Given the description of an element on the screen output the (x, y) to click on. 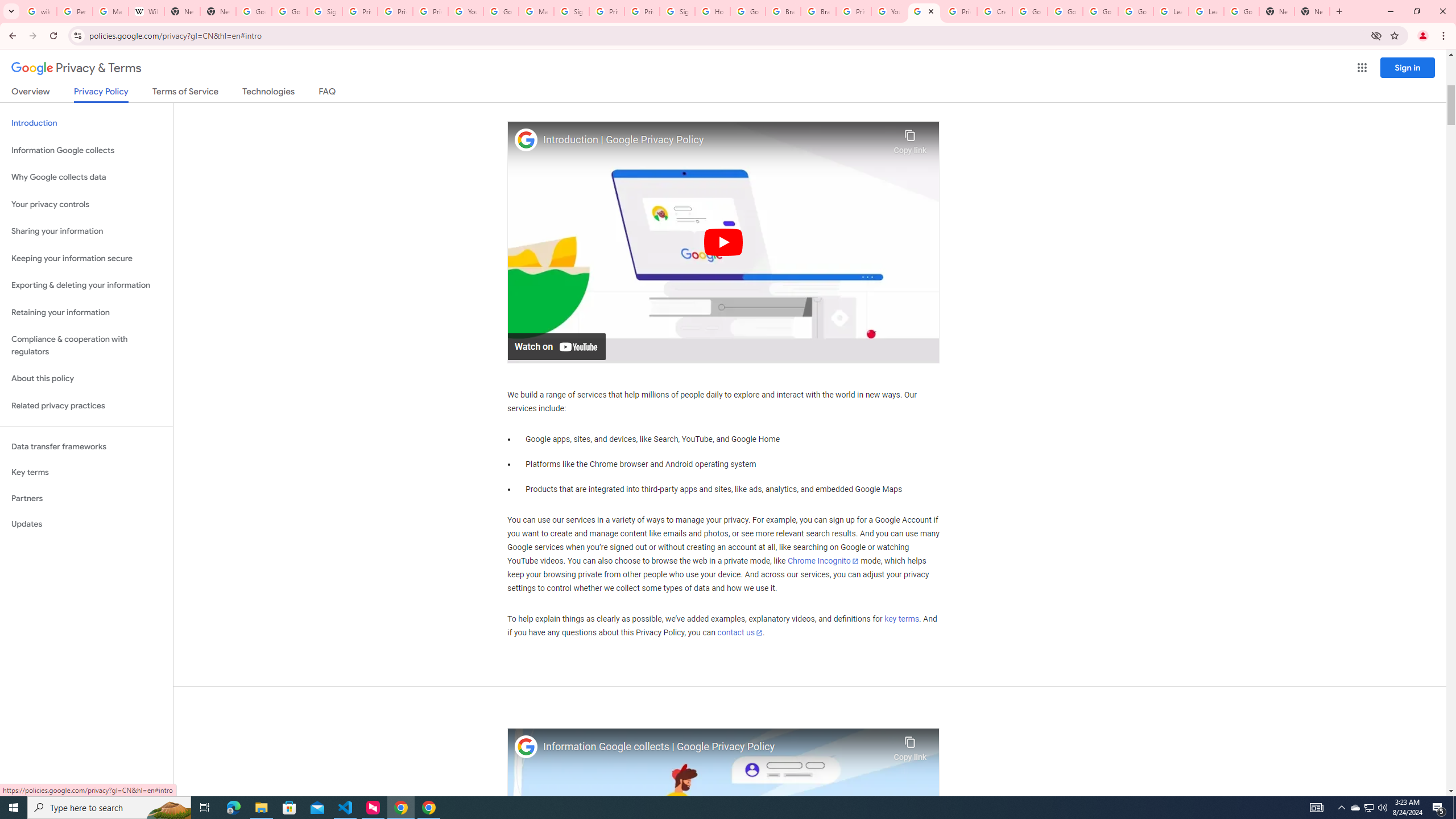
contact us (739, 633)
Related privacy practices (86, 405)
New Tab (1276, 11)
Introduction (86, 122)
YouTube (465, 11)
Sign in - Google Accounts (571, 11)
Retaining your information (86, 312)
Technologies (268, 93)
